Given the description of an element on the screen output the (x, y) to click on. 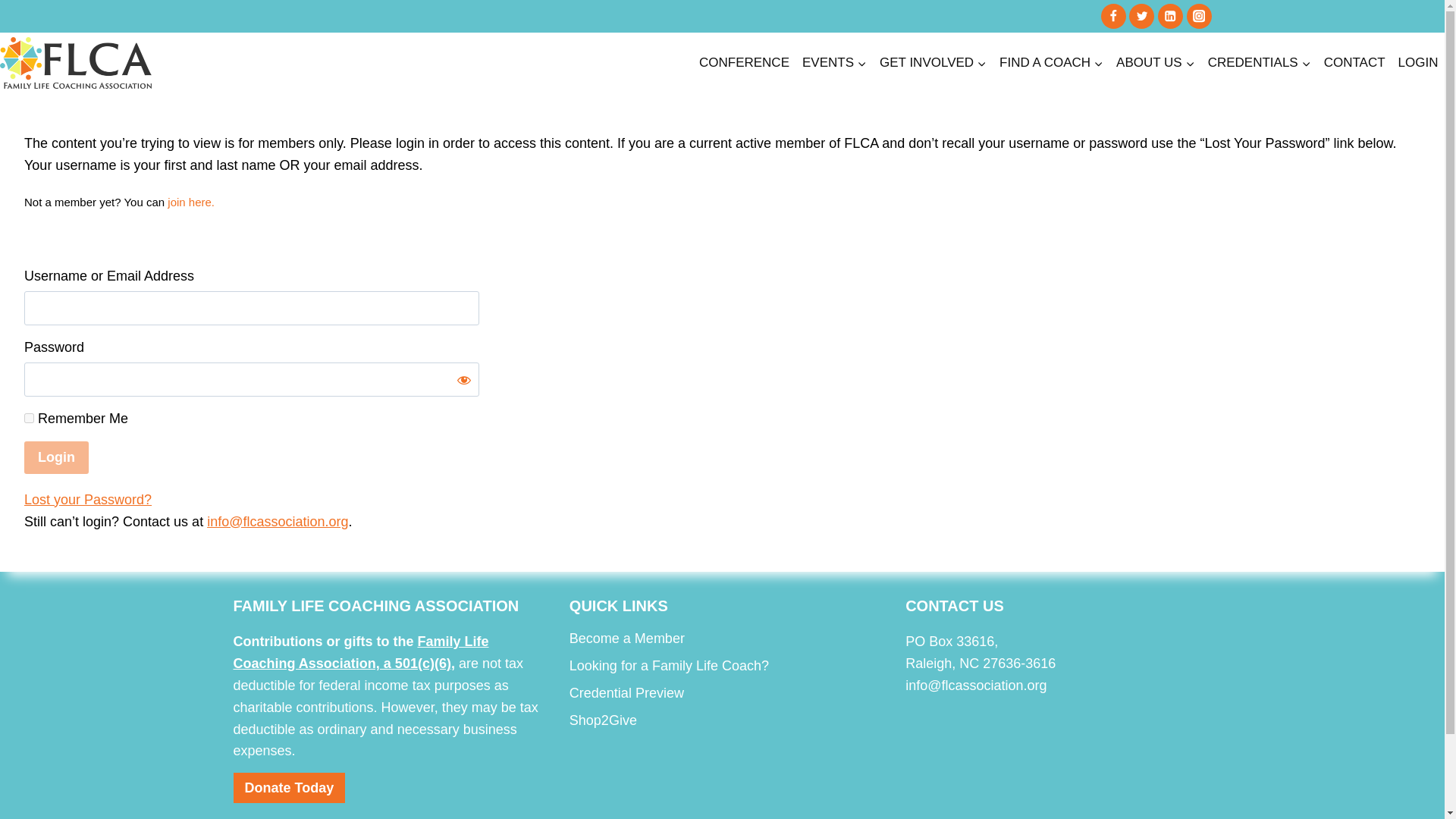
FIND A COACH (1050, 63)
Login (56, 457)
CONTACT (1354, 63)
CONFERENCE (743, 63)
ABOUT US (1155, 63)
CREDENTIALS (1259, 63)
GET INVOLVED (932, 63)
EVENTS (833, 63)
forever (28, 418)
